Given the description of an element on the screen output the (x, y) to click on. 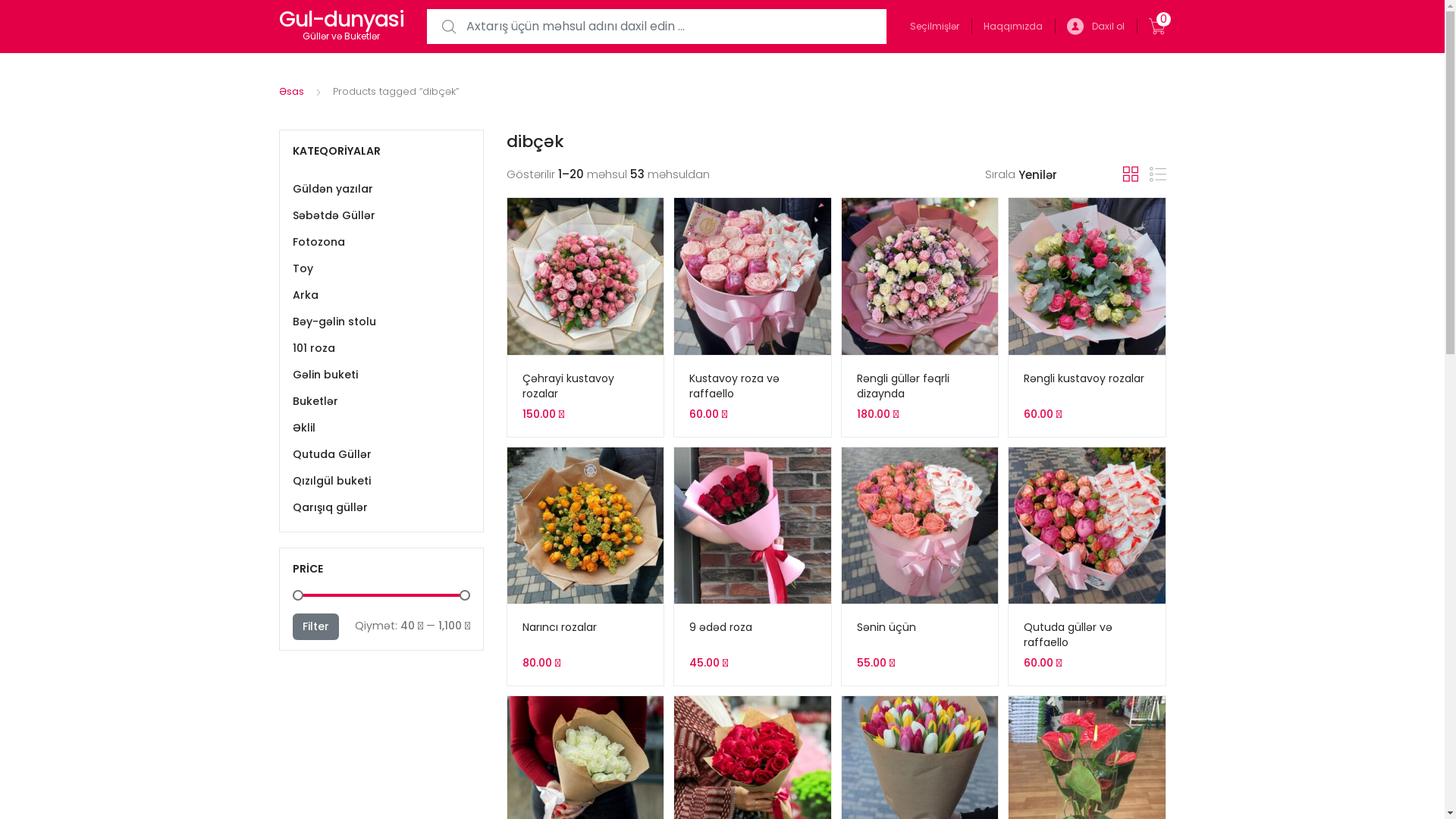
0 Element type: text (1155, 26)
Daxil ol Element type: text (1094, 26)
Toy Element type: text (381, 268)
Search Element type: text (10, 12)
101 roza Element type: text (381, 348)
List Element type: hover (1157, 173)
Grid View Element type: hover (1129, 174)
Fotozona Element type: text (381, 242)
Arka Element type: text (381, 295)
Filter Element type: text (315, 626)
